Given the description of an element on the screen output the (x, y) to click on. 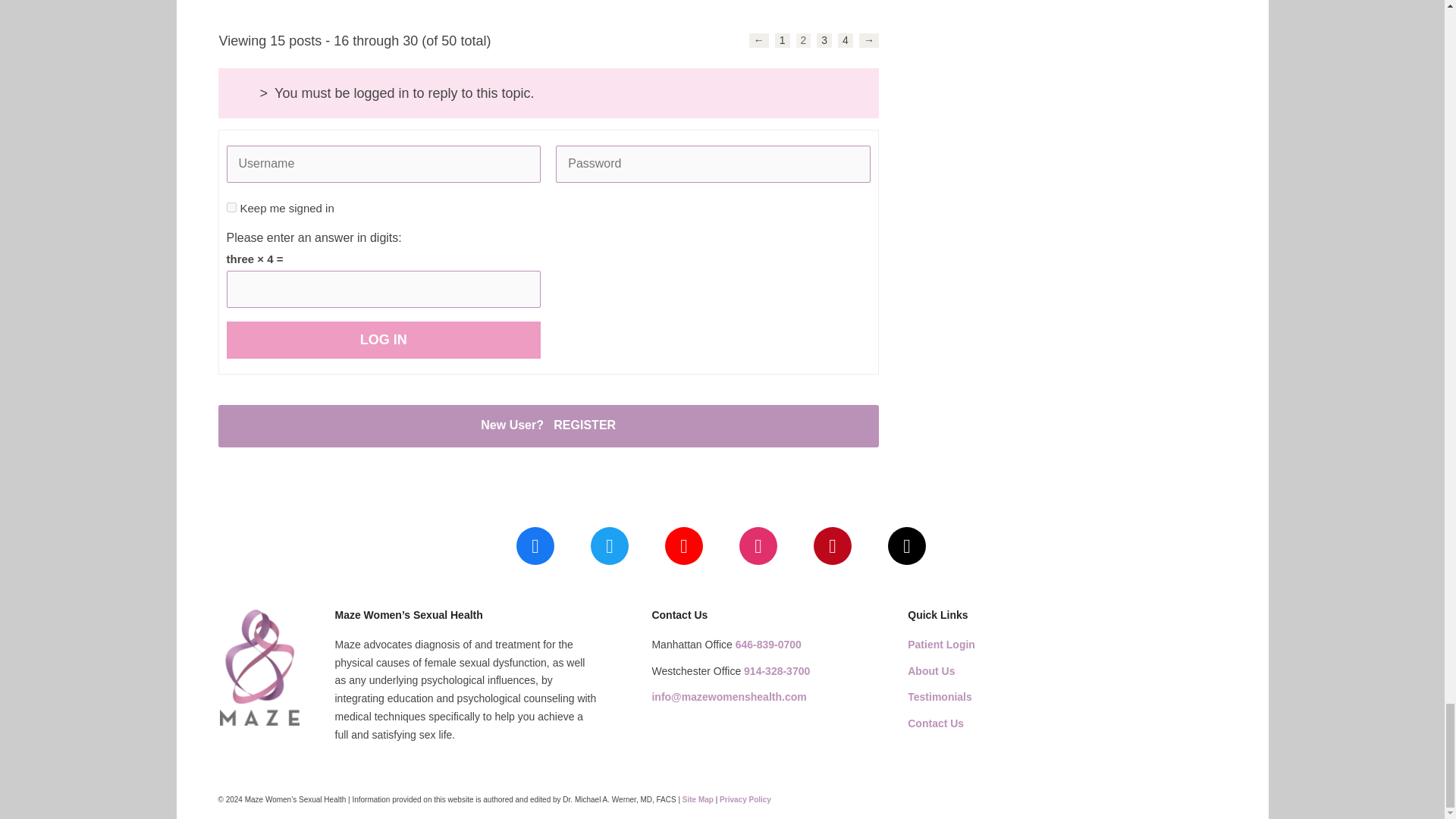
forever (230, 207)
